Given the description of an element on the screen output the (x, y) to click on. 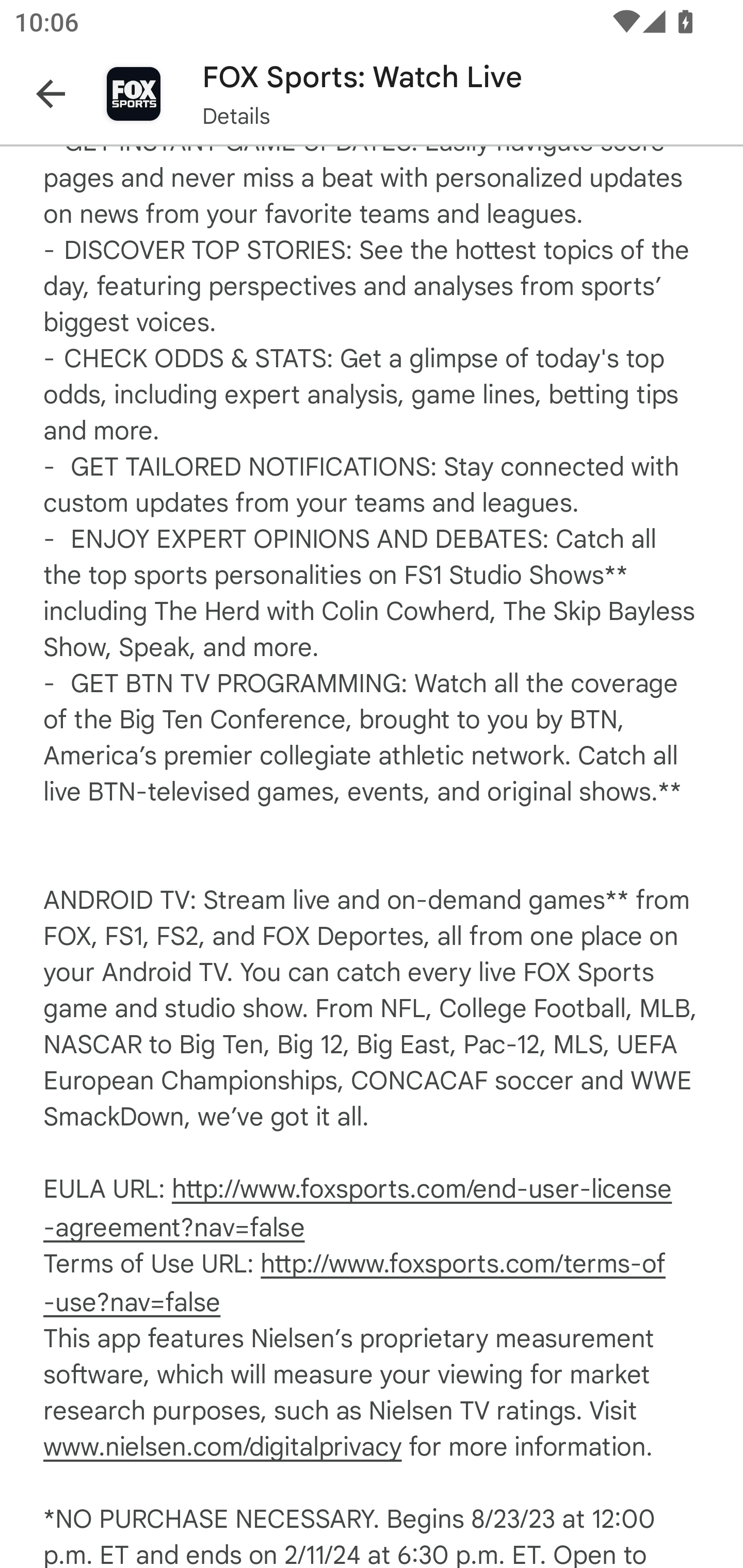
Navigate up (50, 93)
